Given the description of an element on the screen output the (x, y) to click on. 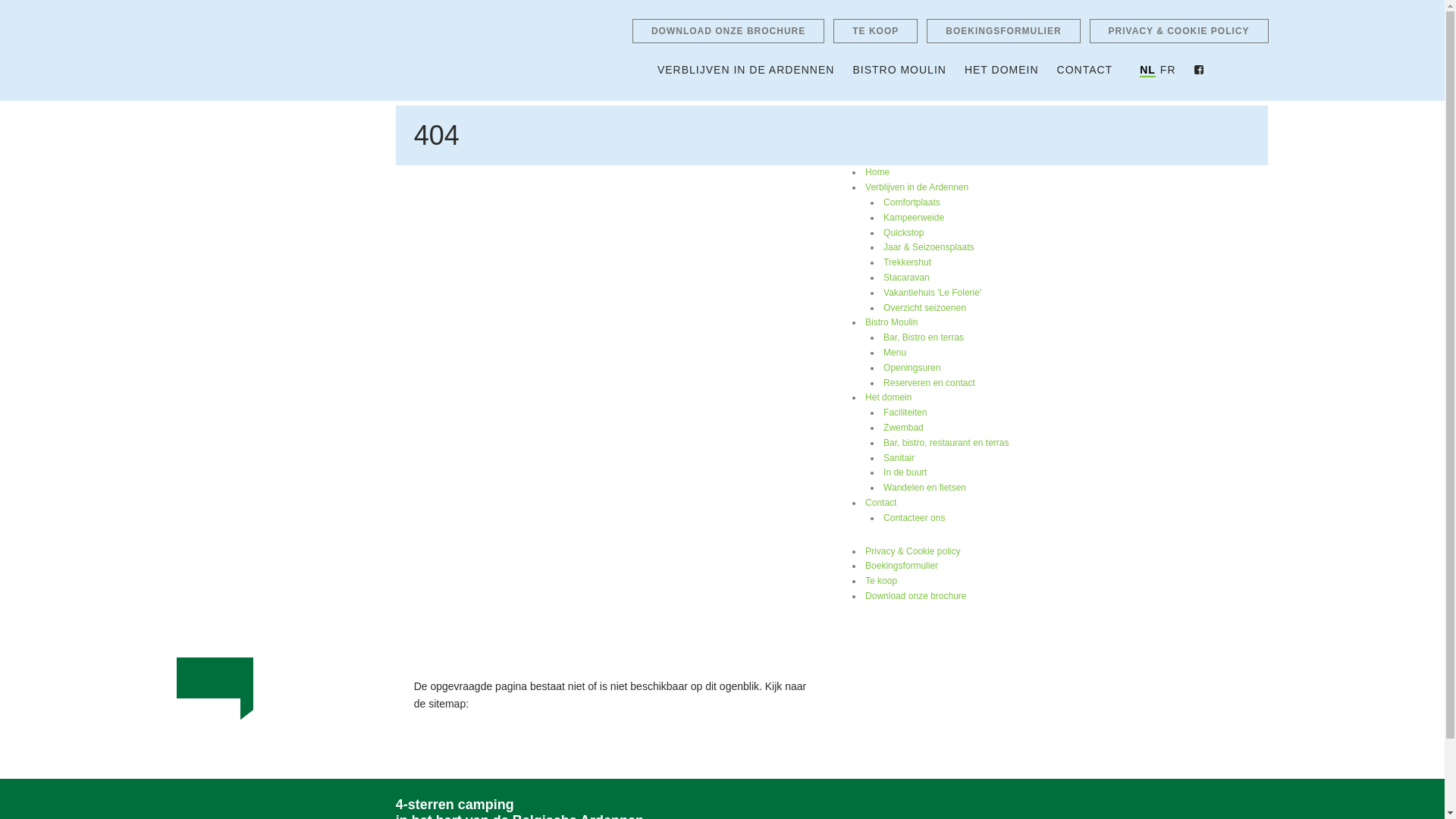
DOWNLOAD ONZE BROCHURE Element type: text (728, 30)
Het domein Element type: text (888, 397)
Reserveren en contact Element type: text (929, 383)
Wandelen en fietsen Element type: text (924, 487)
Contacteer ons Element type: text (913, 518)
Download onze brochure Element type: text (915, 596)
4-sterren camping met zwembad in de Ardennen Element type: text (281, 47)
Privacy & Cookie policy Element type: text (912, 551)
Bar, Bistro en terras Element type: text (923, 337)
Bistro Moulin Element type: text (891, 322)
Sanitair Element type: text (898, 458)
Overzicht seizoenen Element type: text (924, 307)
Trekkershut Element type: text (907, 262)
FR Element type: text (1168, 69)
Faciliteiten Element type: text (904, 412)
TE KOOP Element type: text (875, 30)
NL Element type: text (1147, 70)
Comfortplaats Element type: text (911, 202)
Jaar & Seizoensplaats Element type: text (928, 247)
Stacaravan Element type: text (906, 277)
BOEKINGSFORMULIER Element type: text (1002, 30)
Quickstop Element type: text (903, 232)
Contact Element type: text (880, 502)
In de buurt Element type: text (904, 472)
Bar, bistro, restaurant en terras Element type: text (945, 442)
Te koop Element type: text (881, 580)
VERBLIJVEN IN DE ARDENNEN Element type: text (745, 69)
Boekingsformulier Element type: text (901, 565)
HET DOMEIN Element type: text (1001, 69)
BISTRO MOULIN Element type: text (898, 69)
Openingsuren Element type: text (911, 367)
Kampeerweide Element type: text (913, 217)
Zwembad Element type: text (903, 427)
CONTACT Element type: text (1085, 69)
PRIVACY & COOKIE POLICY Element type: text (1178, 30)
Verblijven in de Ardennen Element type: text (916, 187)
Home Element type: text (877, 172)
Menu Element type: text (894, 352)
Vakantiehuis 'Le Folerie' Element type: text (932, 292)
